Given the description of an element on the screen output the (x, y) to click on. 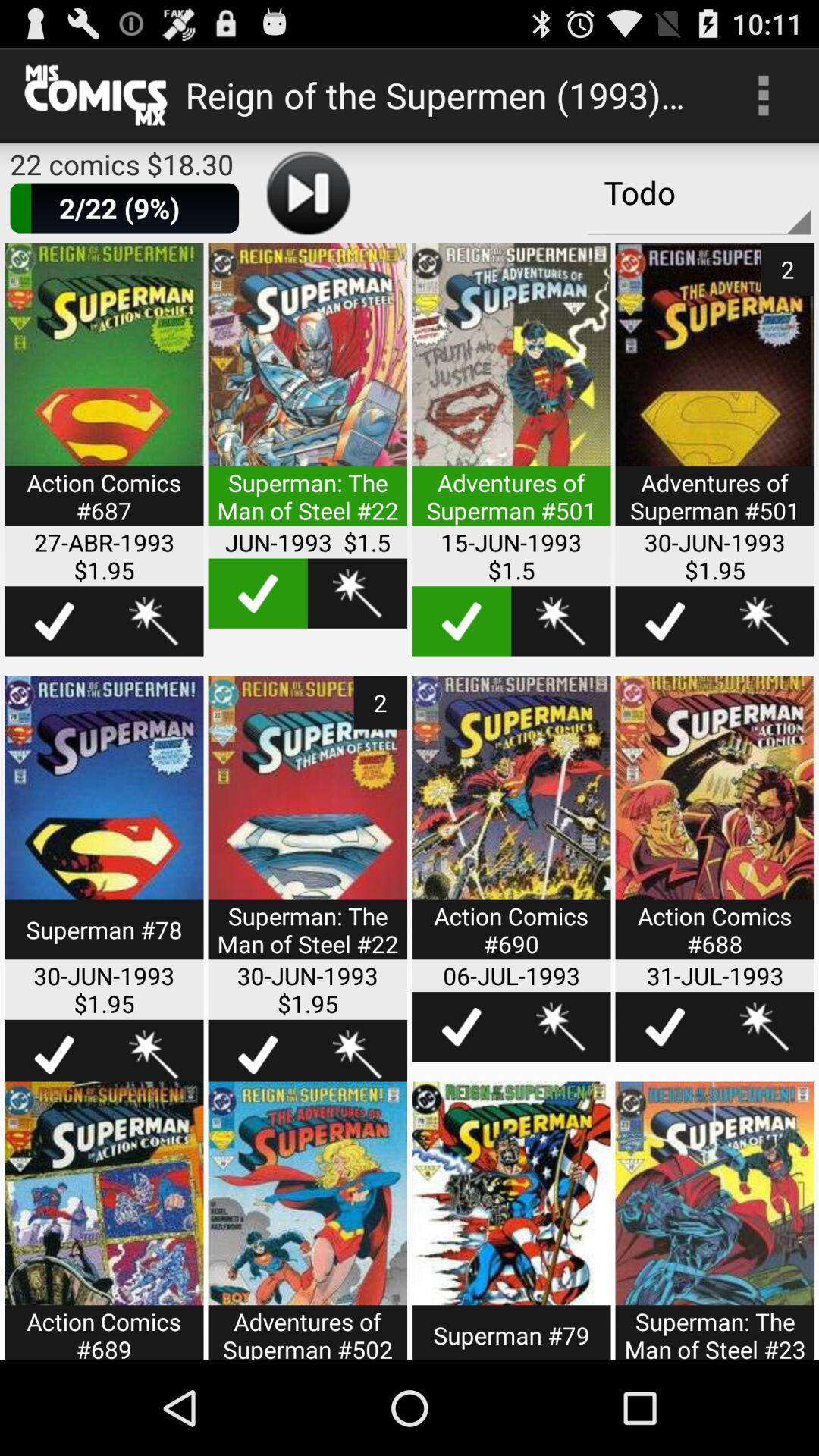
check the option (257, 593)
